Given the description of an element on the screen output the (x, y) to click on. 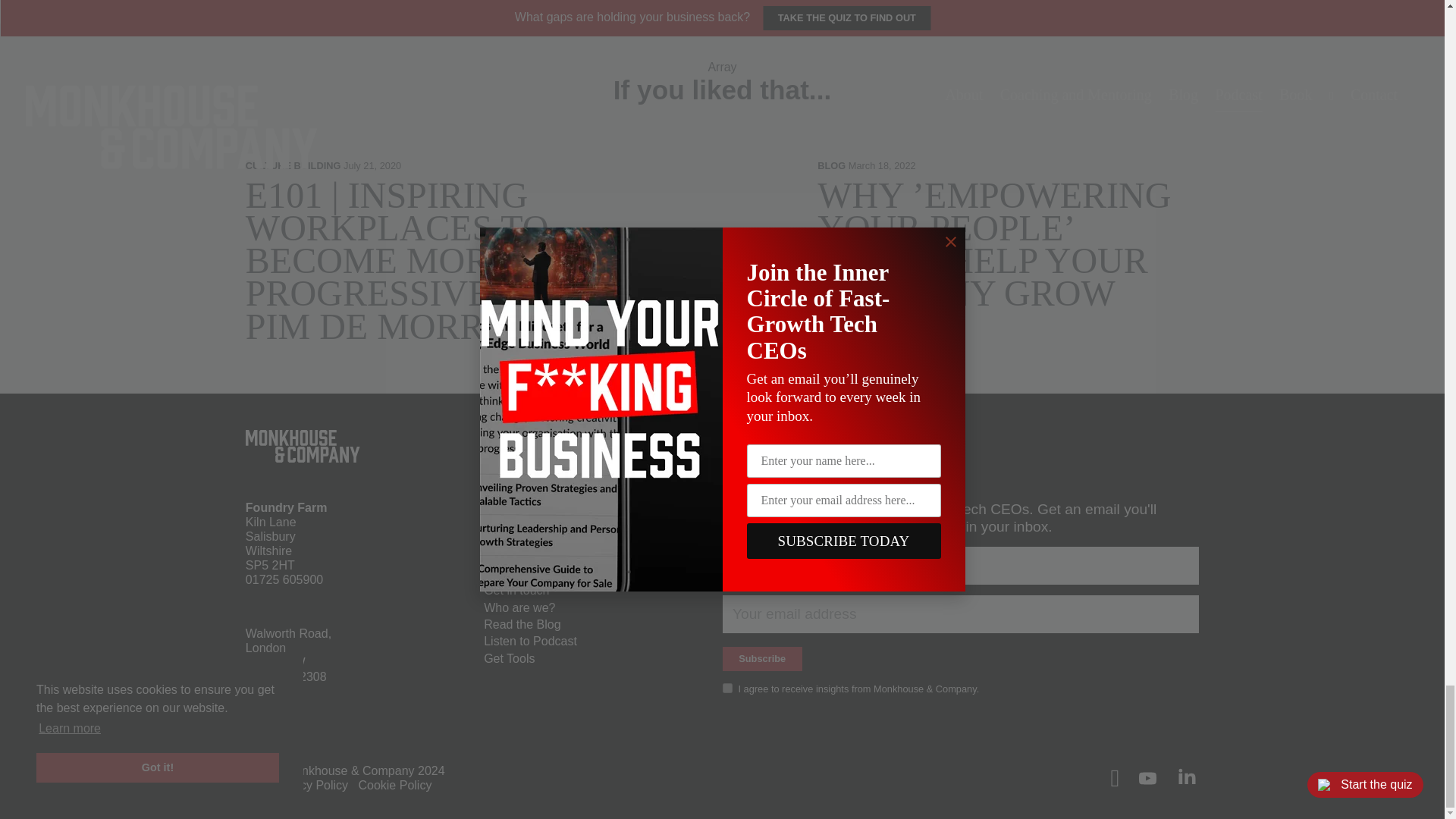
1 (727, 687)
London (265, 647)
01725 605900 (284, 579)
Book a Workshop (531, 522)
020 8164 2308 (286, 676)
Subscribe (762, 659)
